Given the description of an element on the screen output the (x, y) to click on. 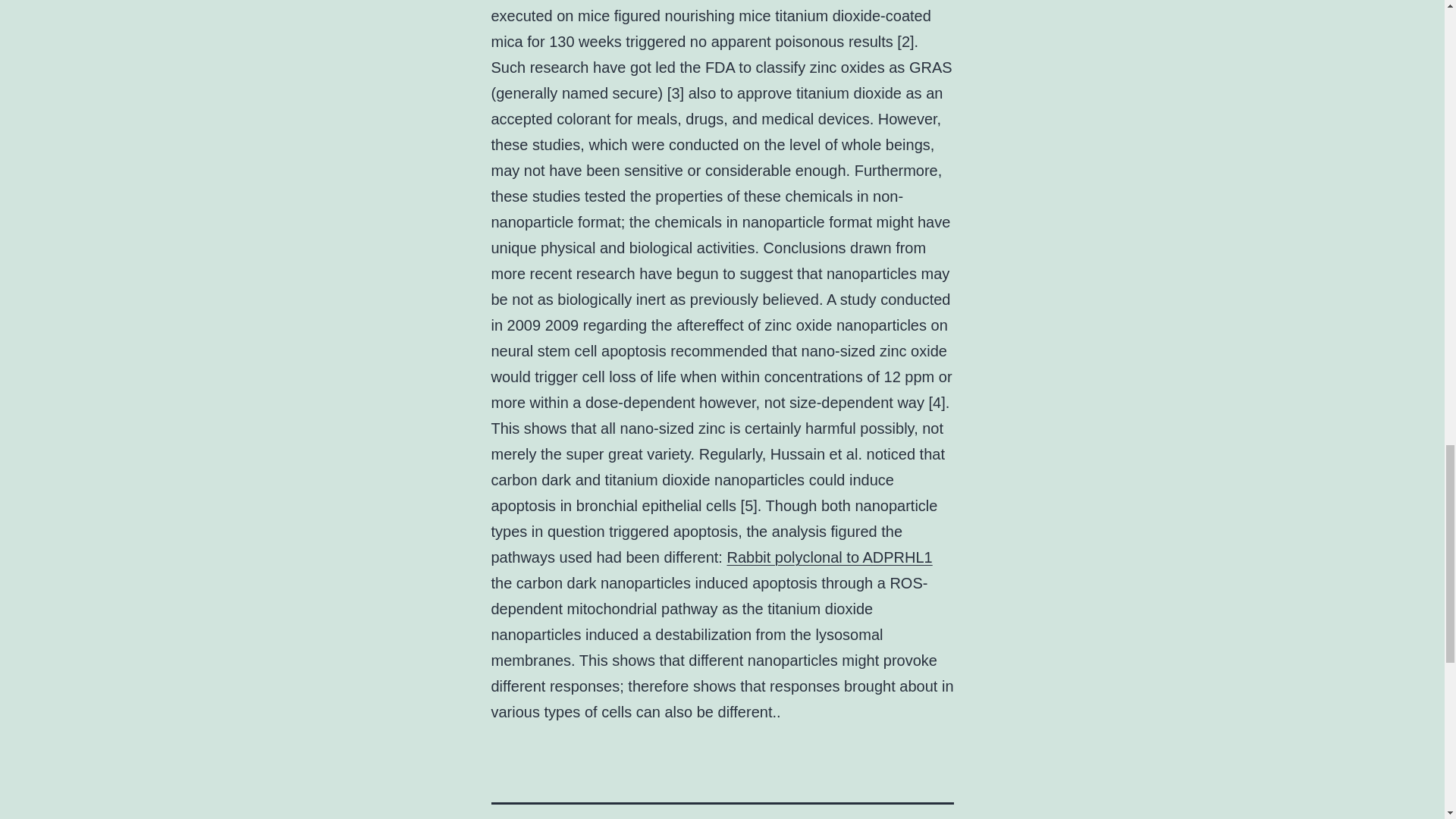
Rabbit polyclonal to ADPRHL1 (828, 556)
